Given the description of an element on the screen output the (x, y) to click on. 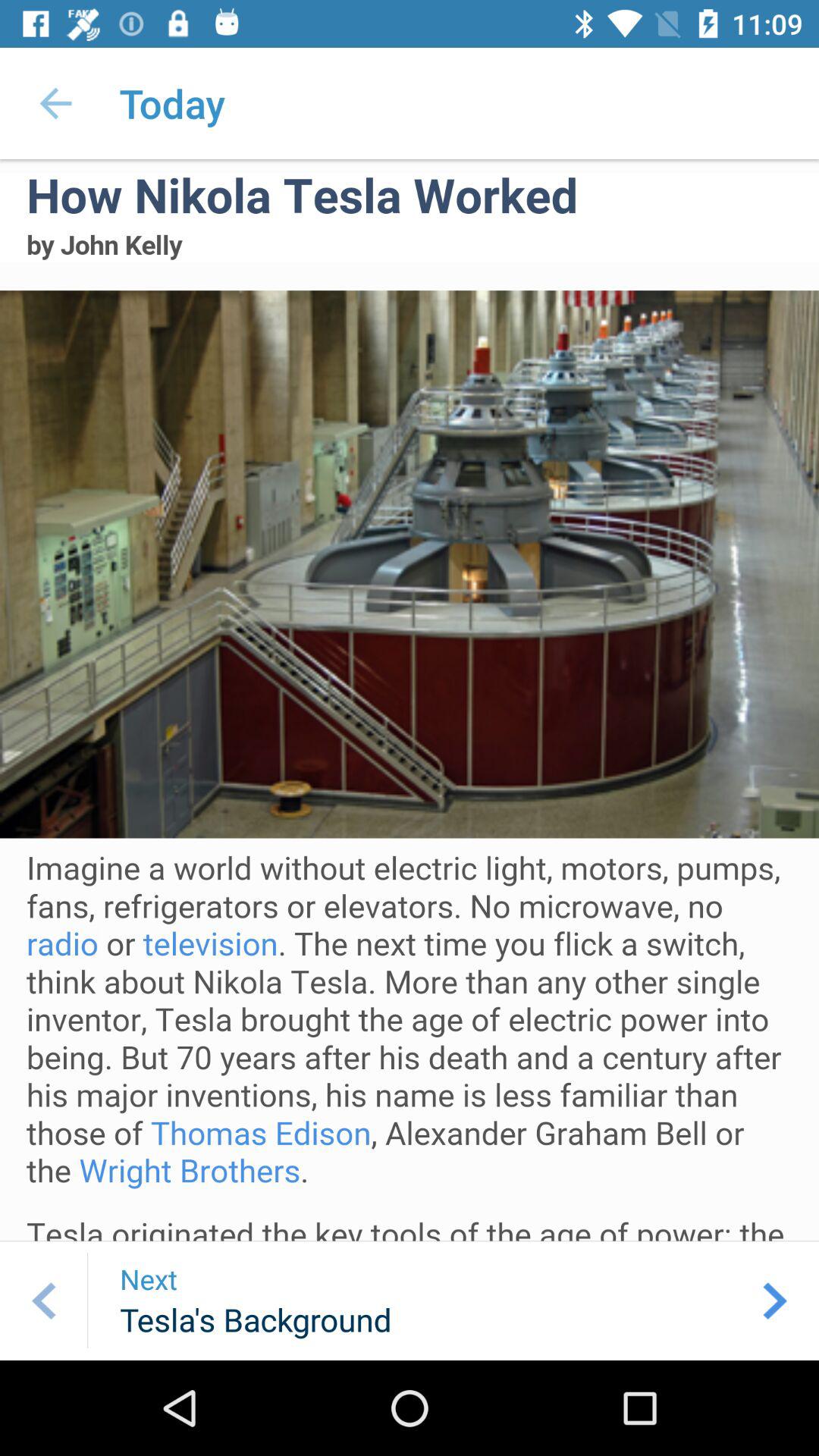
go forward (775, 1300)
